Given the description of an element on the screen output the (x, y) to click on. 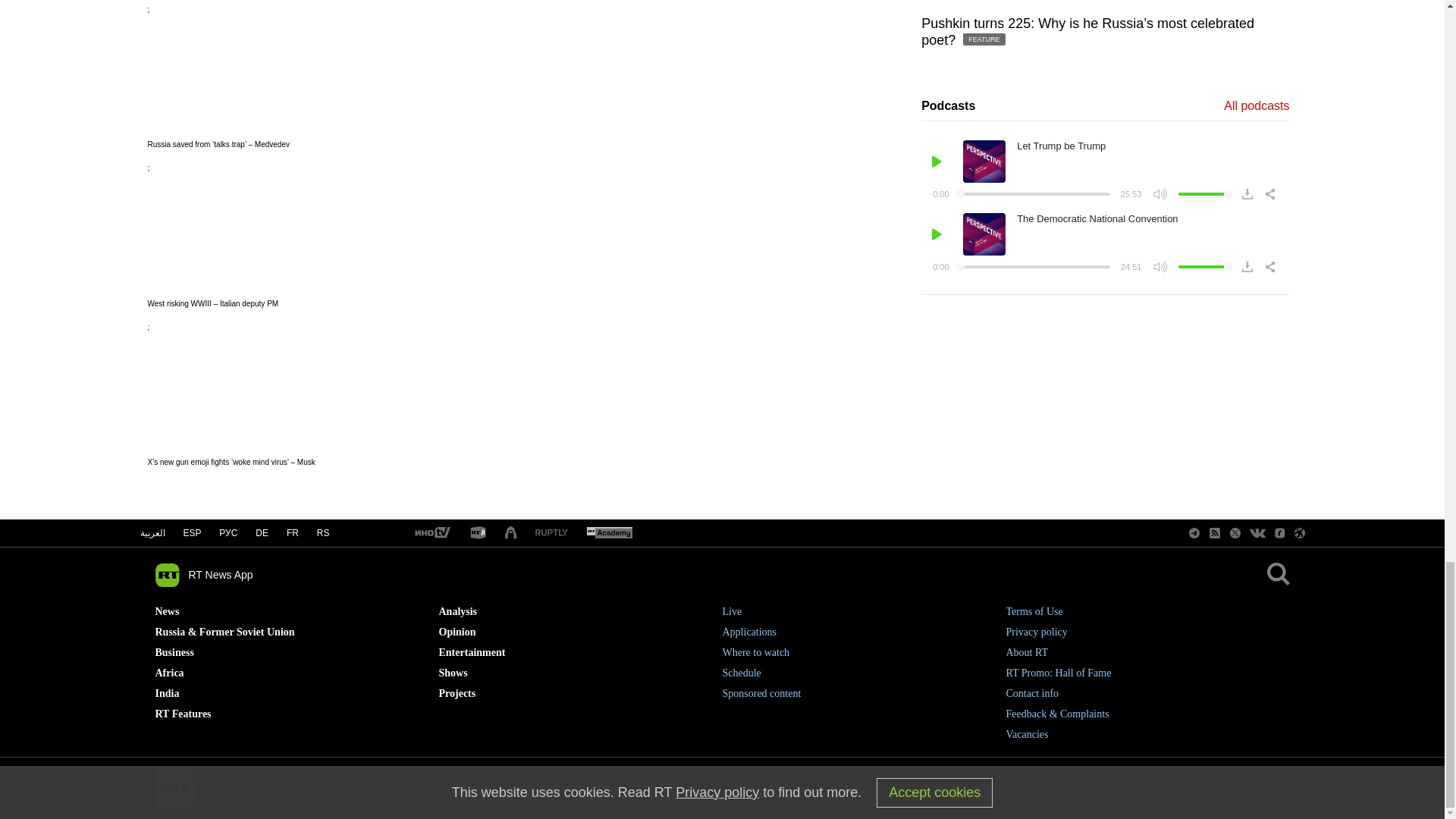
RT  (551, 533)
RT  (431, 533)
RT  (608, 533)
RT  (478, 533)
